Given the description of an element on the screen output the (x, y) to click on. 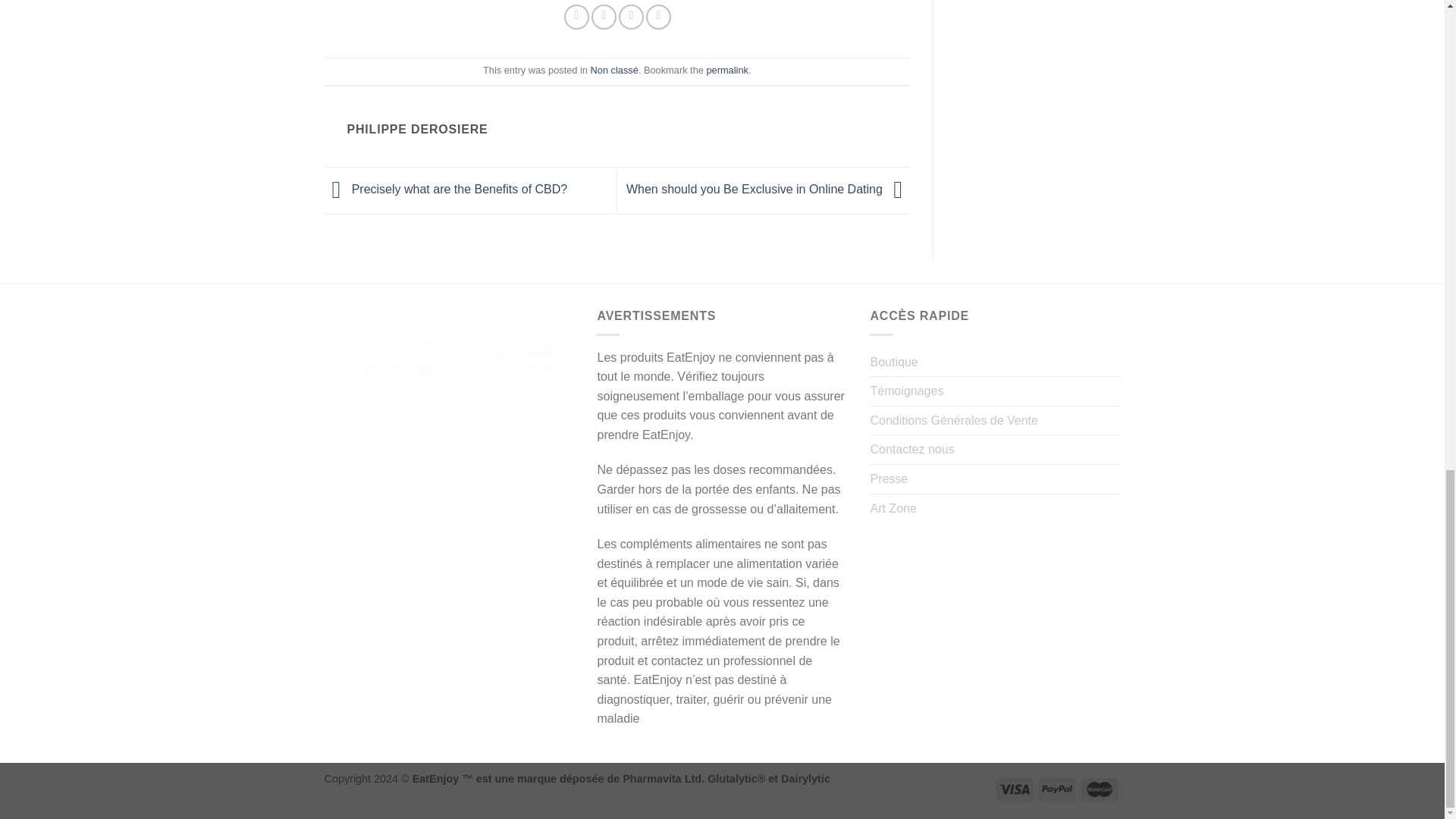
When should you Be Exclusive in Online Dating (768, 188)
Permalink to twelve Online Dating Specifics (727, 70)
permalink (727, 70)
Partager sur Facebook (576, 16)
Precisely what are the Benefits of CBD? (445, 188)
Envoyer par mail (630, 16)
Partager sur Twitter (603, 16)
Partager sur Tumblr (658, 16)
